Given the description of an element on the screen output the (x, y) to click on. 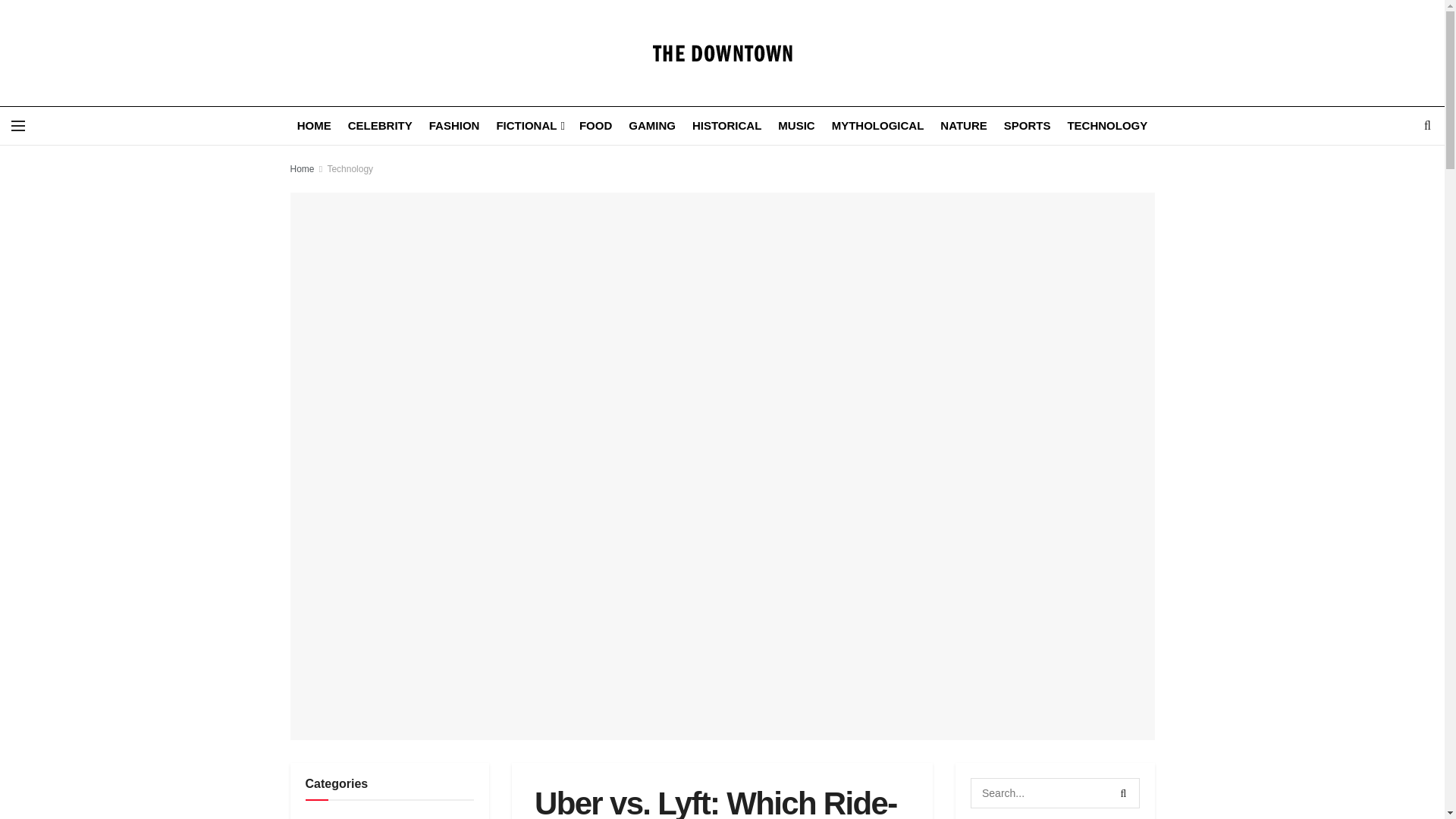
NATURE (963, 125)
FOOD (595, 125)
FASHION (454, 125)
TECHNOLOGY (1107, 125)
MUSIC (795, 125)
MYTHOLOGICAL (877, 125)
SPORTS (1027, 125)
FICTIONAL (529, 125)
HOME (314, 125)
CELEBRITY (379, 125)
GAMING (651, 125)
HISTORICAL (727, 125)
